Given the description of an element on the screen output the (x, y) to click on. 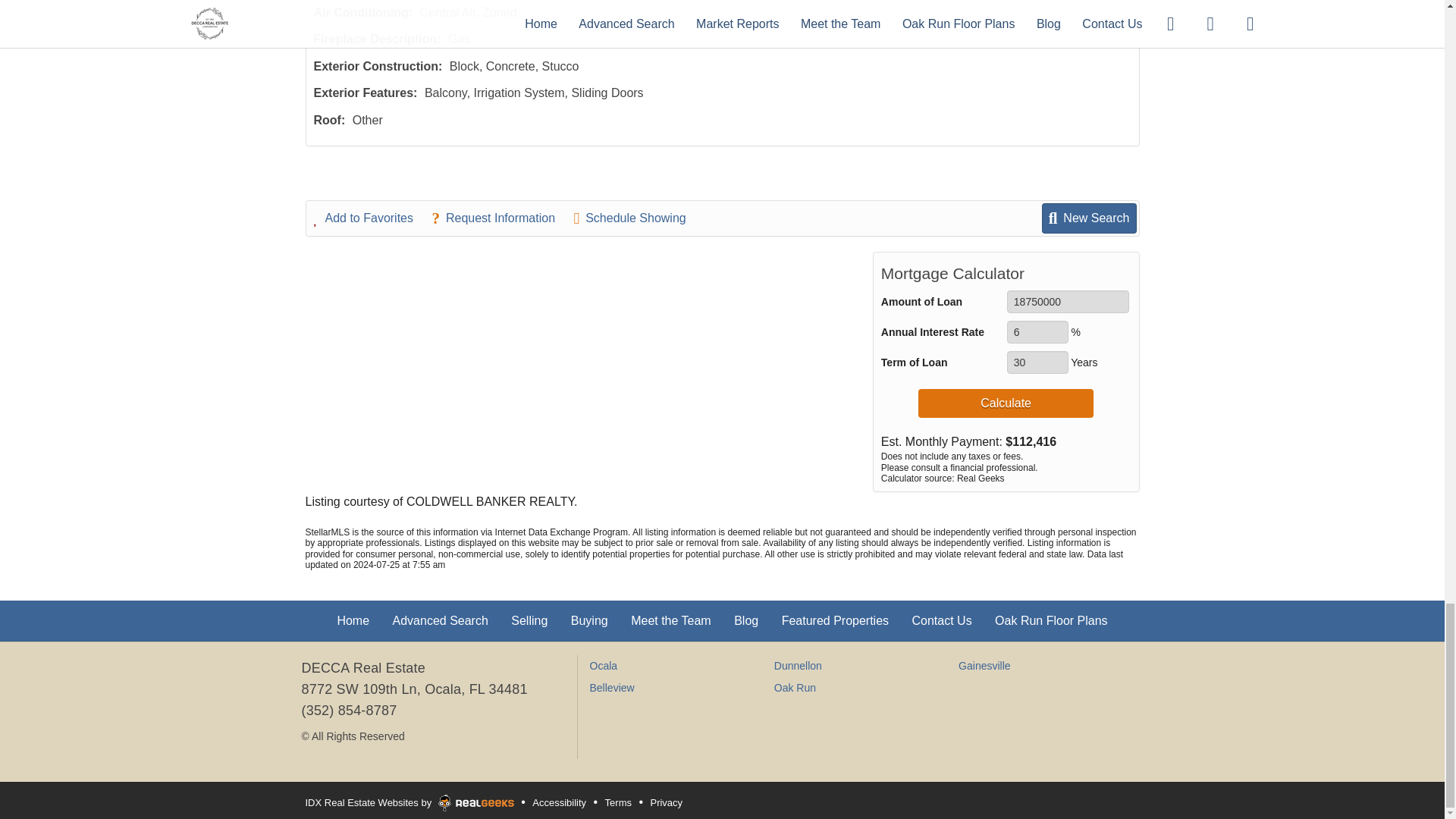
6 (1037, 332)
18750000 (1068, 301)
30 (1037, 362)
